Given the description of an element on the screen output the (x, y) to click on. 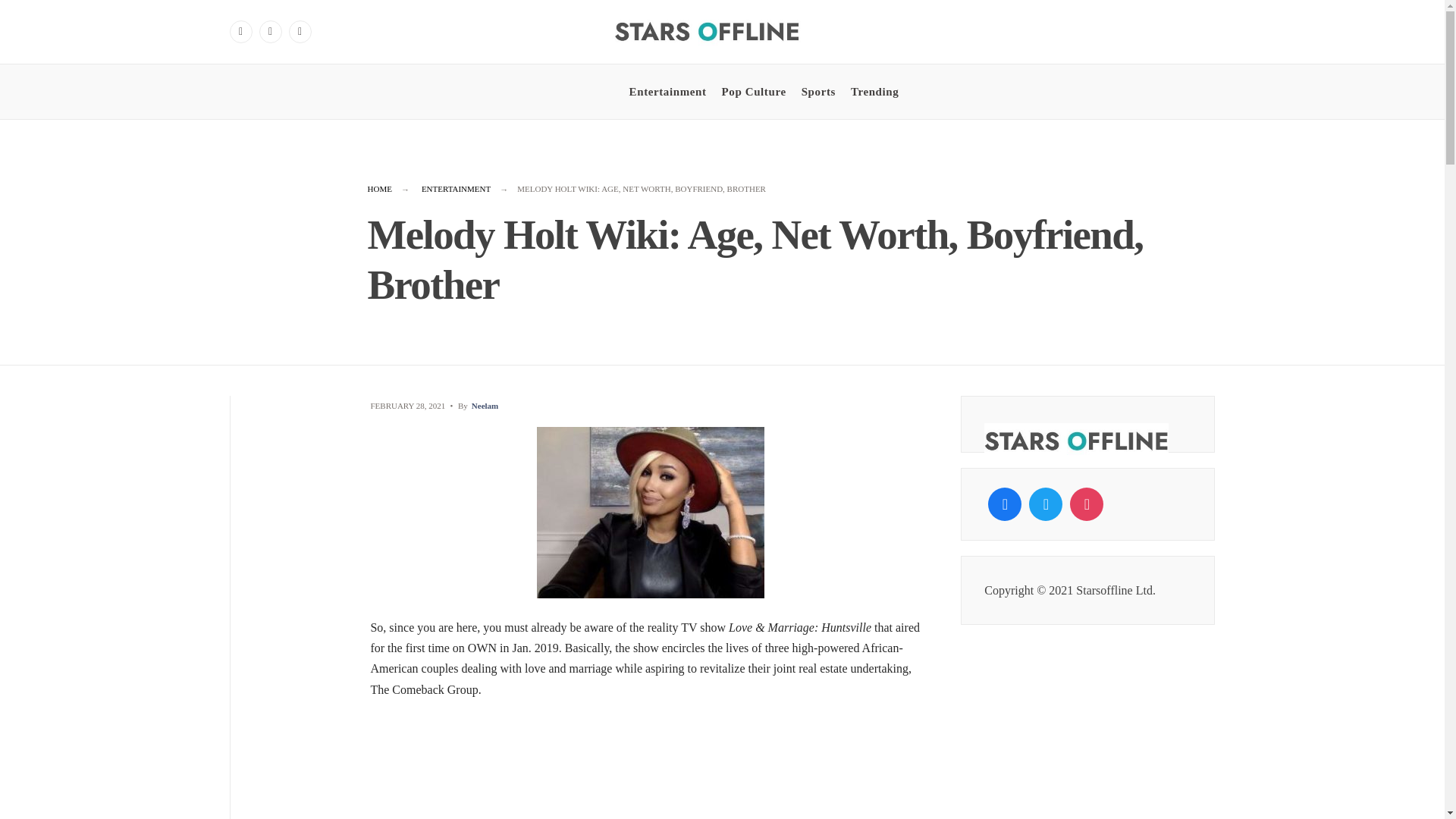
ENTERTAINMENT (456, 188)
Pinterest (299, 31)
Pop Culture (754, 91)
Entertainment (667, 91)
Sports (818, 91)
Trending (874, 91)
HOME (378, 188)
Advertisement (650, 769)
Neelam (484, 405)
Posts by Neelam (484, 405)
